Given the description of an element on the screen output the (x, y) to click on. 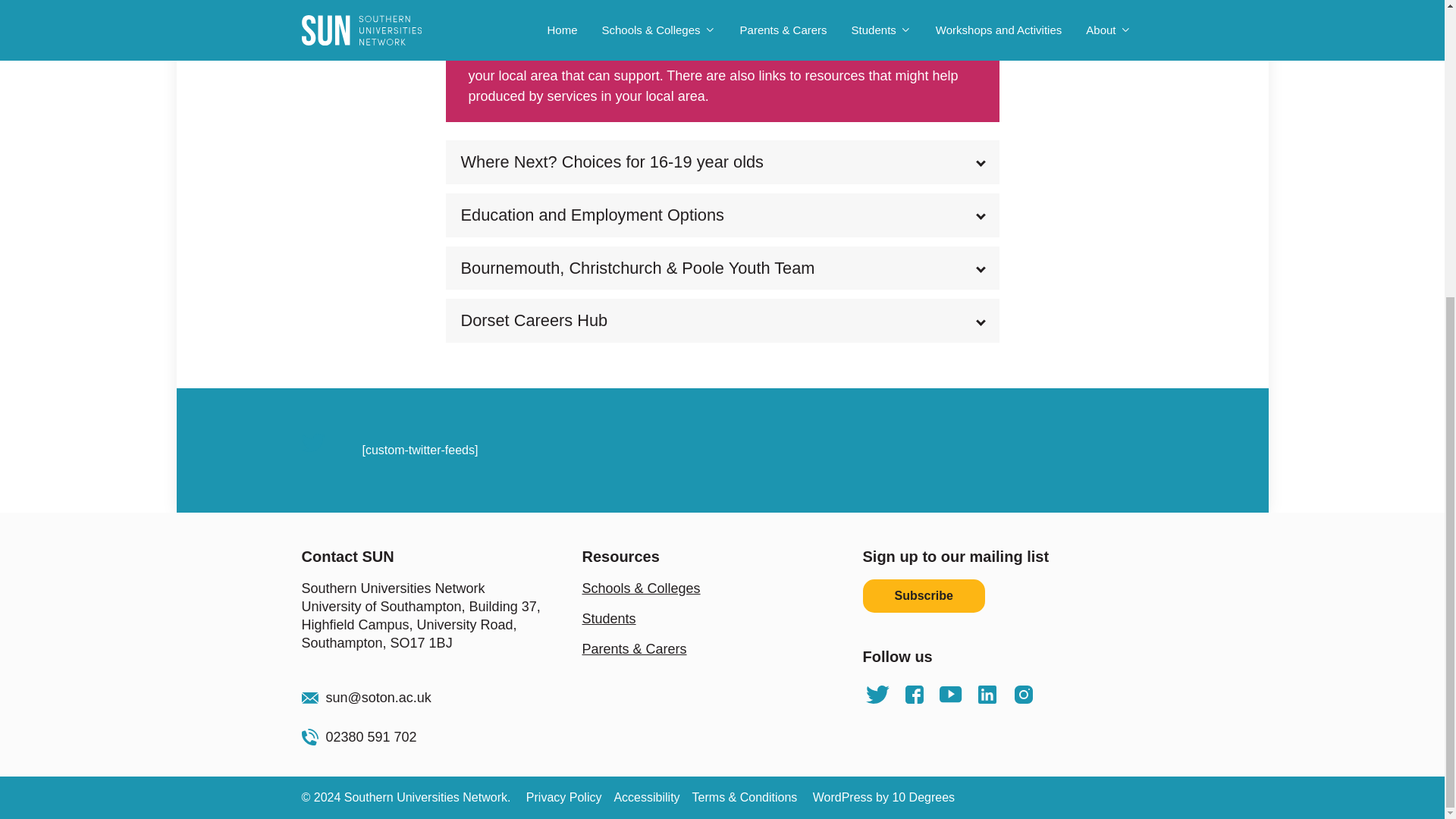
twitter (878, 694)
Dorset Careers Hub (721, 320)
youtube (951, 694)
Where Next? Choices for 16-19 year olds (721, 162)
facebook (914, 694)
Students (609, 618)
Subscribe (924, 595)
Education and Employment Options (721, 215)
linkedin (987, 694)
02380 591 702 (441, 737)
